Given the description of an element on the screen output the (x, y) to click on. 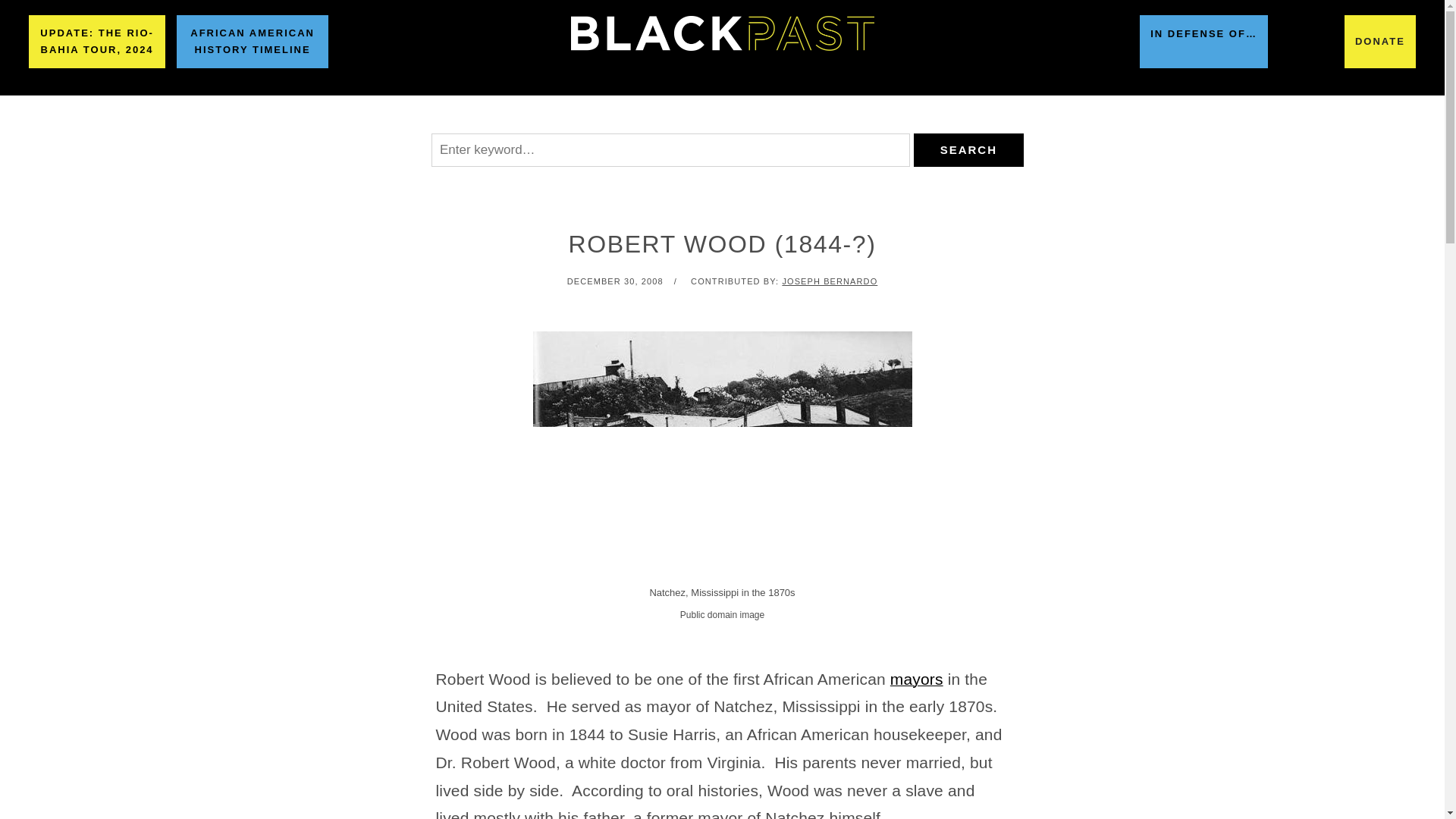
AFRICAN AMERICAN HISTORY TIMELINE (252, 40)
AFRICAN AMERICAN HISTORY (414, 114)
DONATE (1379, 41)
UPDATE: THE RIO-BAHIA TOUR, 2024 (97, 40)
GLOBAL AFRICAN HISTORY (629, 114)
mayors (916, 678)
